Given the description of an element on the screen output the (x, y) to click on. 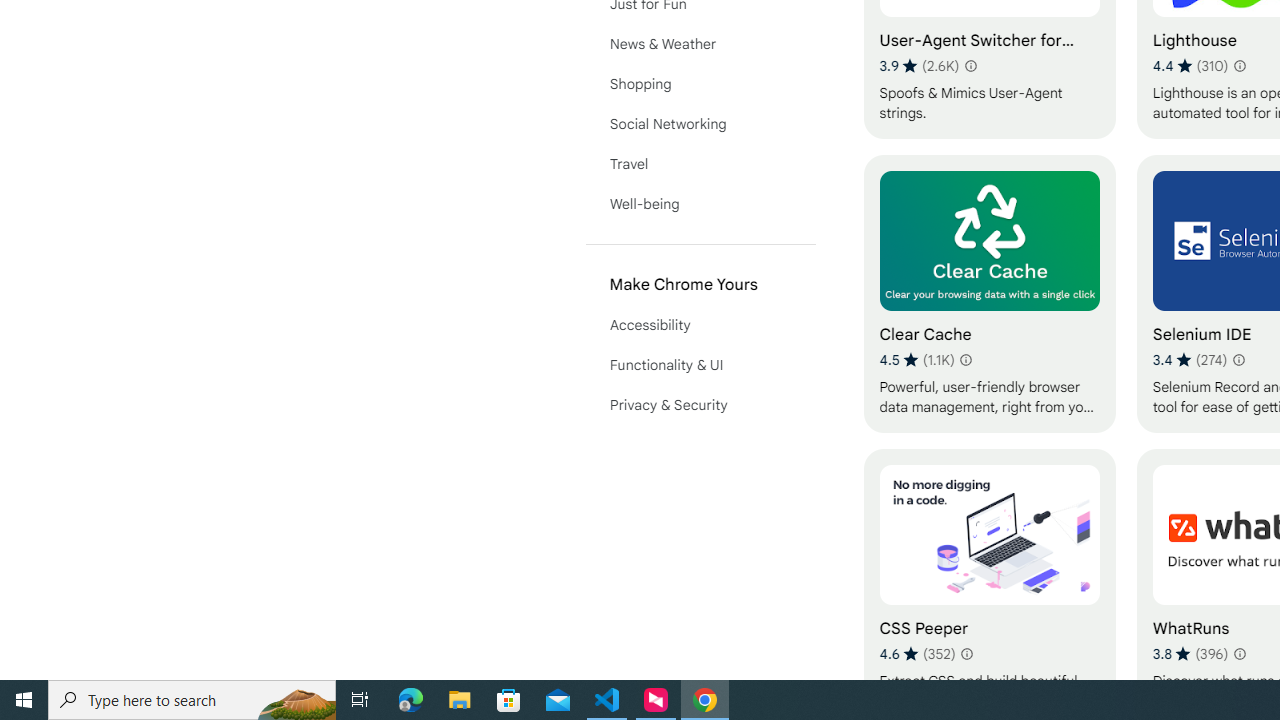
Average rating 3.4 out of 5 stars. 274 ratings. (1189, 359)
Learn more about results and reviews "Clear Cache" (965, 359)
News & Weather (700, 43)
Accessibility (700, 324)
Travel (700, 164)
